Given the description of an element on the screen output the (x, y) to click on. 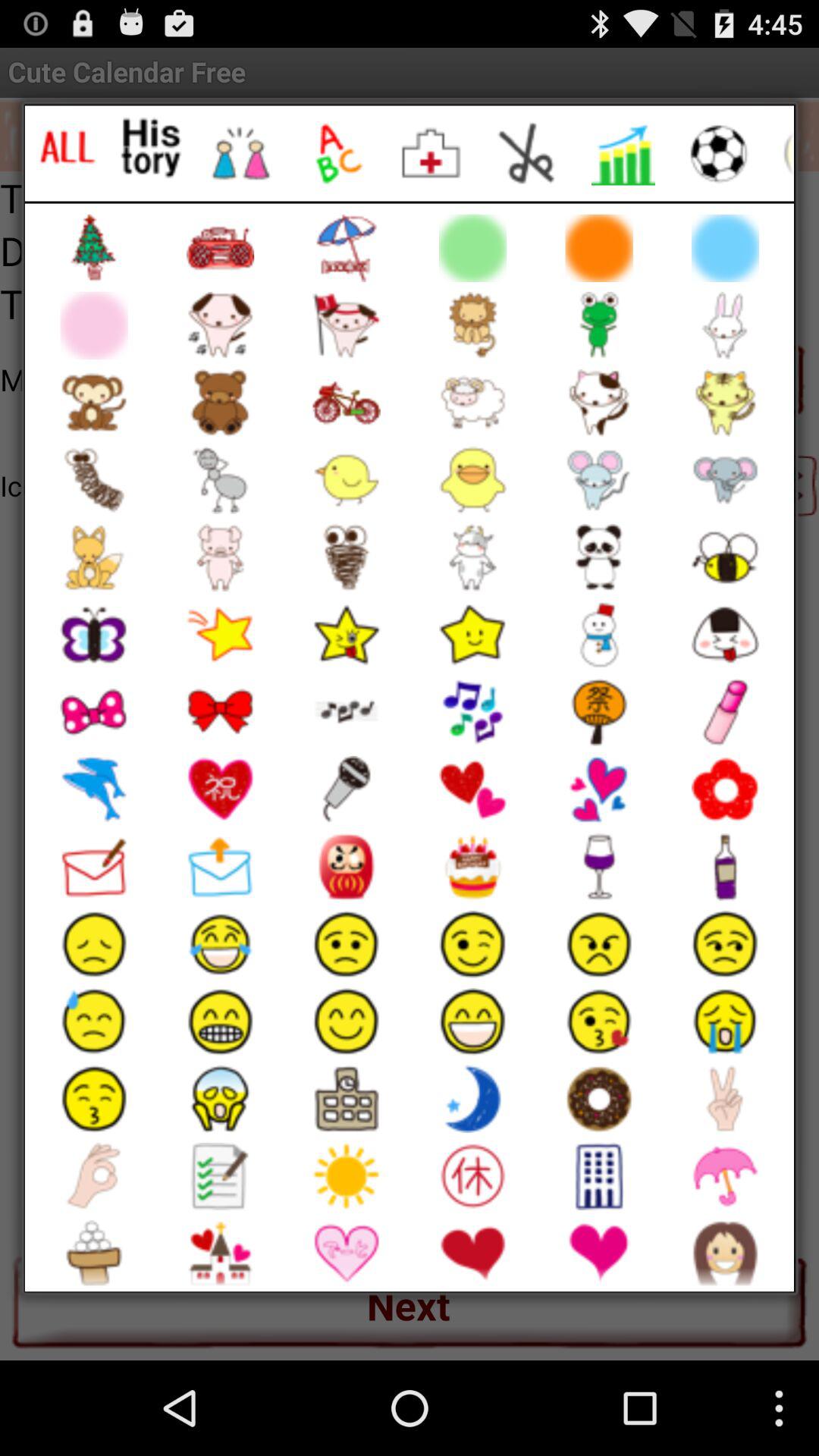
clicks an emote (151, 147)
